Given the description of an element on the screen output the (x, y) to click on. 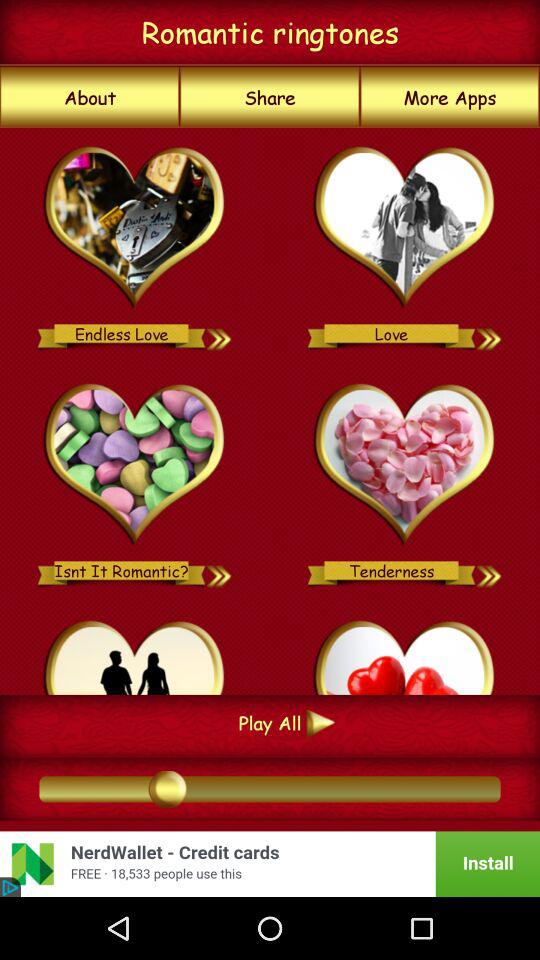
set as alarm tone (220, 570)
